Given the description of an element on the screen output the (x, y) to click on. 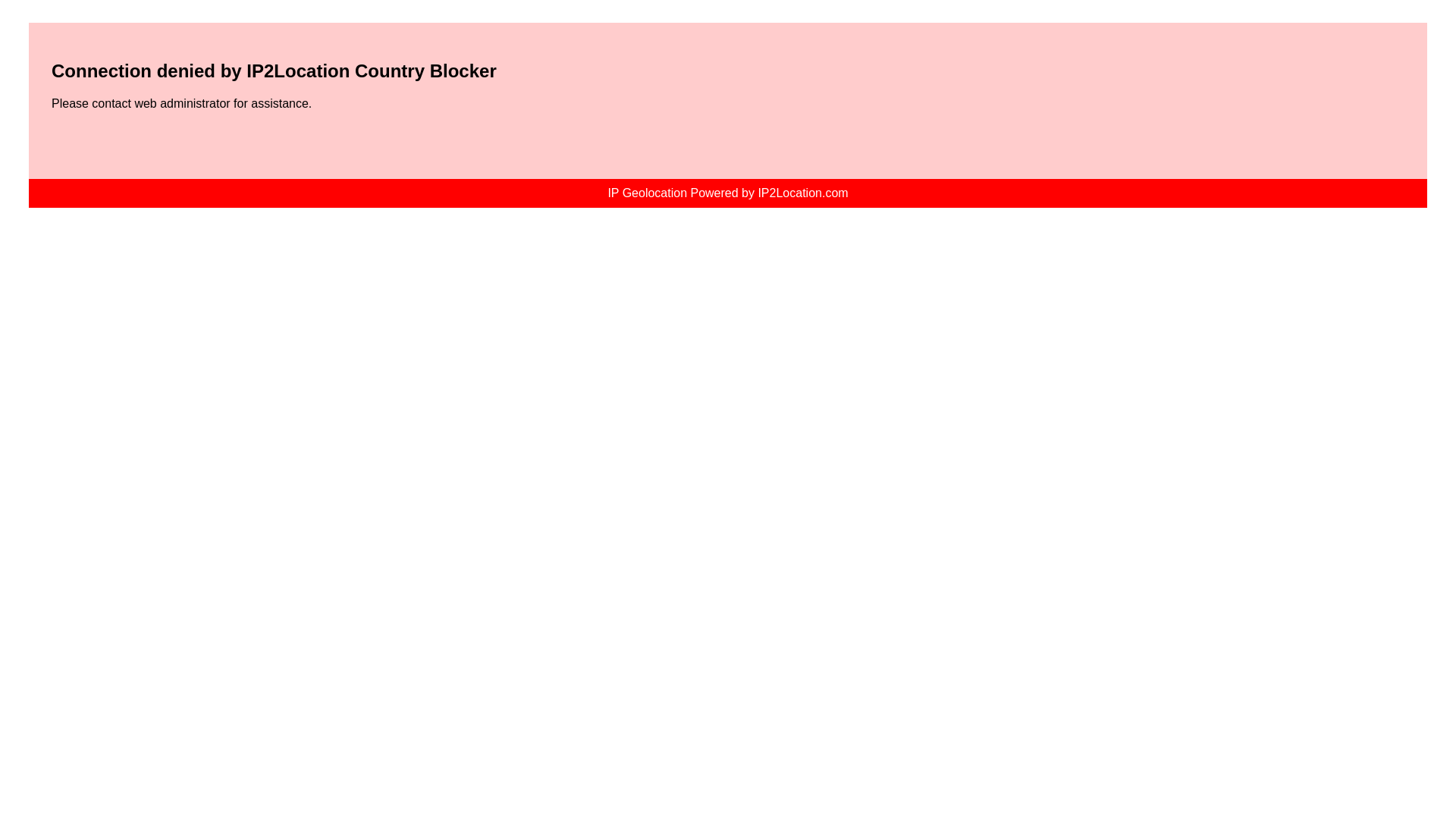
IP Geolocation Powered by IP2Location.com (727, 192)
